Given the description of an element on the screen output the (x, y) to click on. 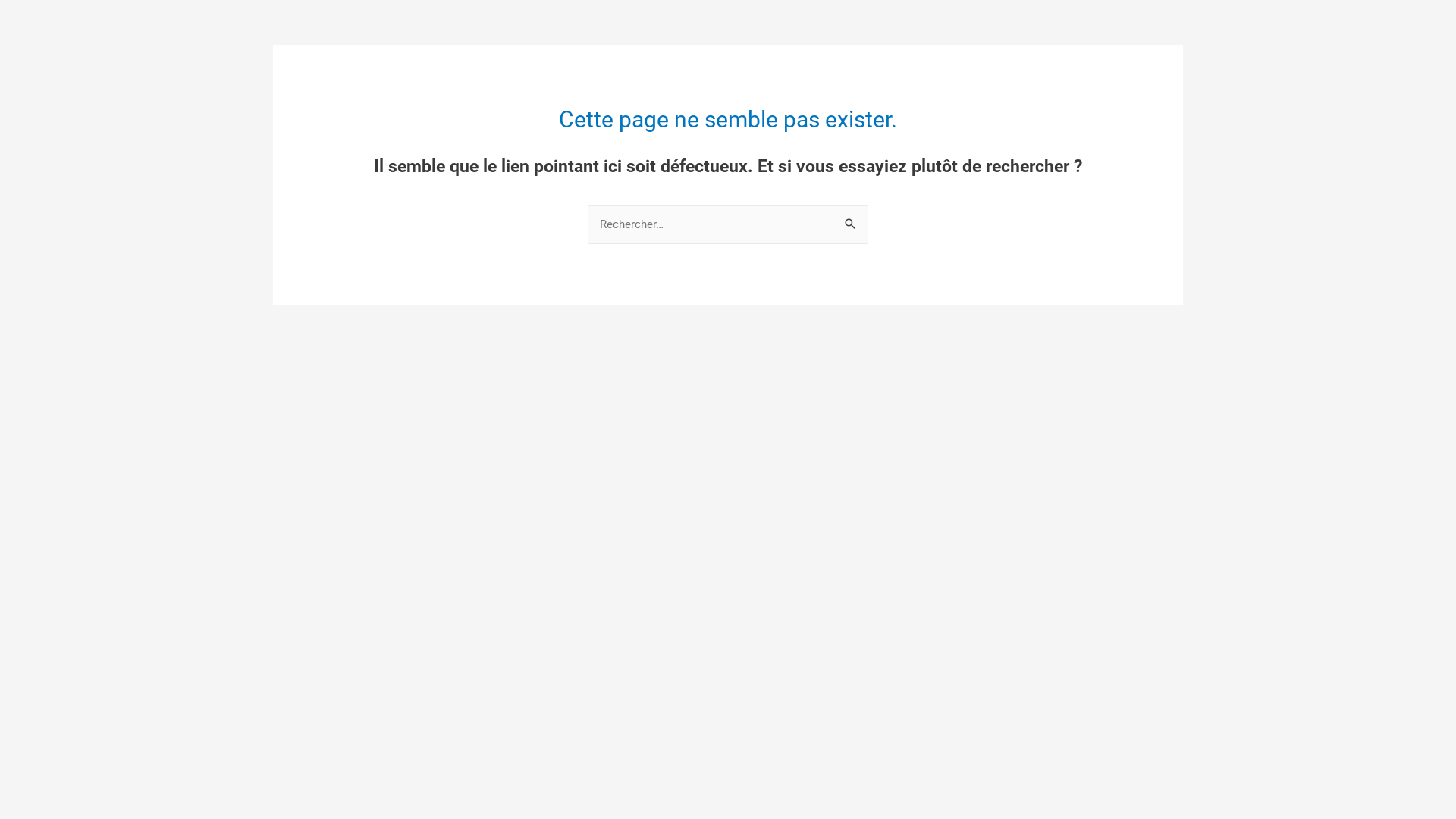
Rechercher Element type: text (851, 219)
